Given the description of an element on the screen output the (x, y) to click on. 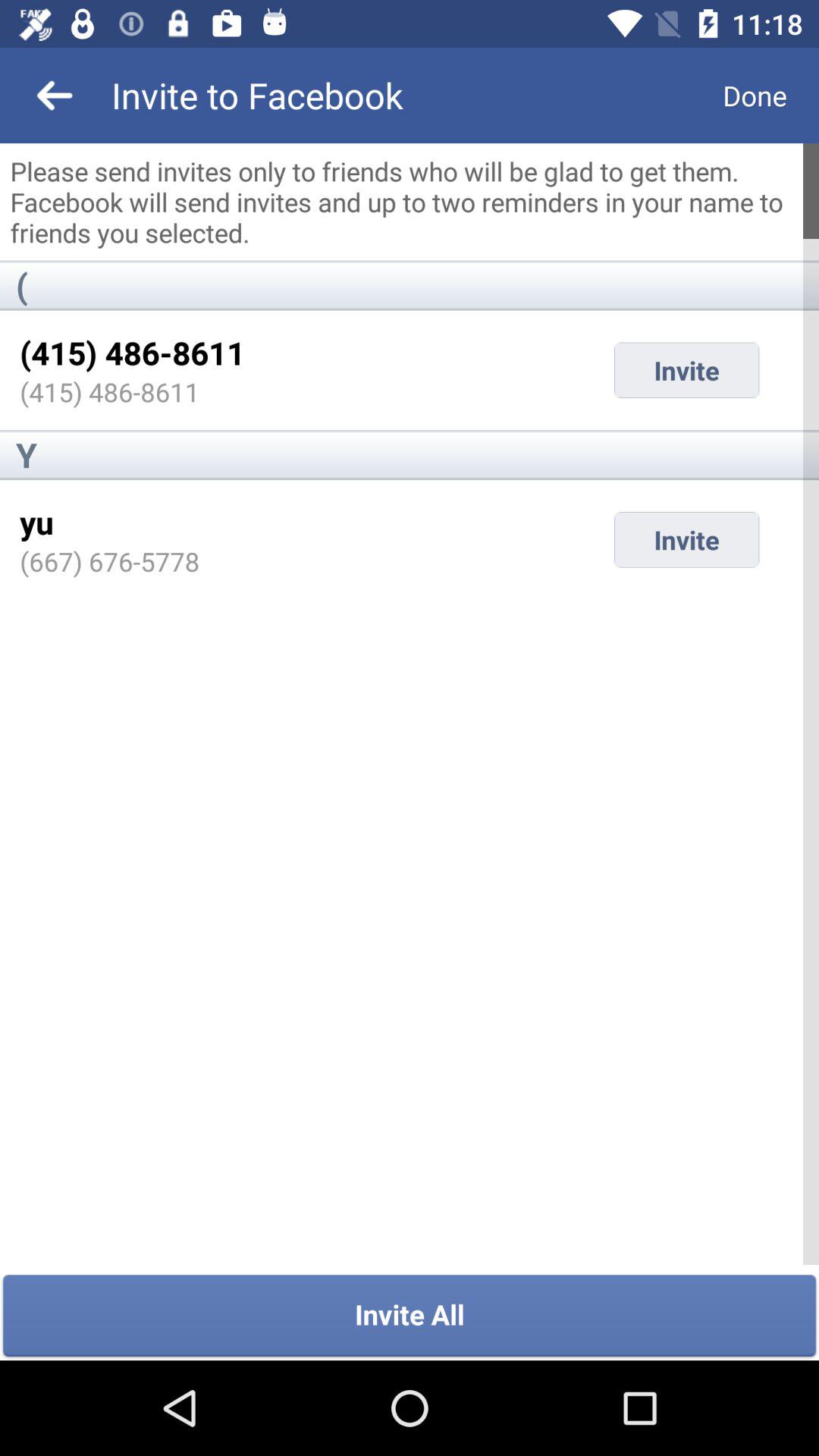
select the icon next to invite to facebook icon (755, 95)
